Given the description of an element on the screen output the (x, y) to click on. 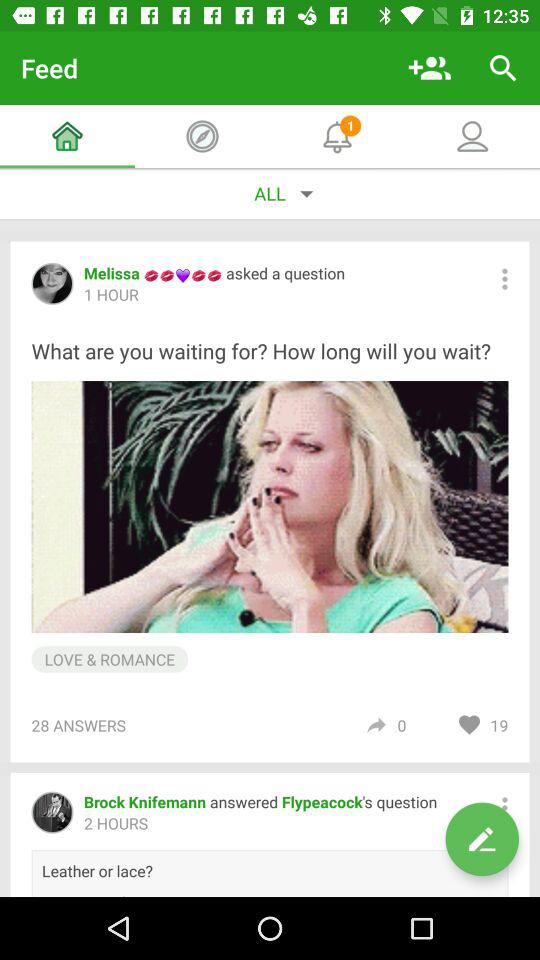
go to writting button (482, 839)
